Given the description of an element on the screen output the (x, y) to click on. 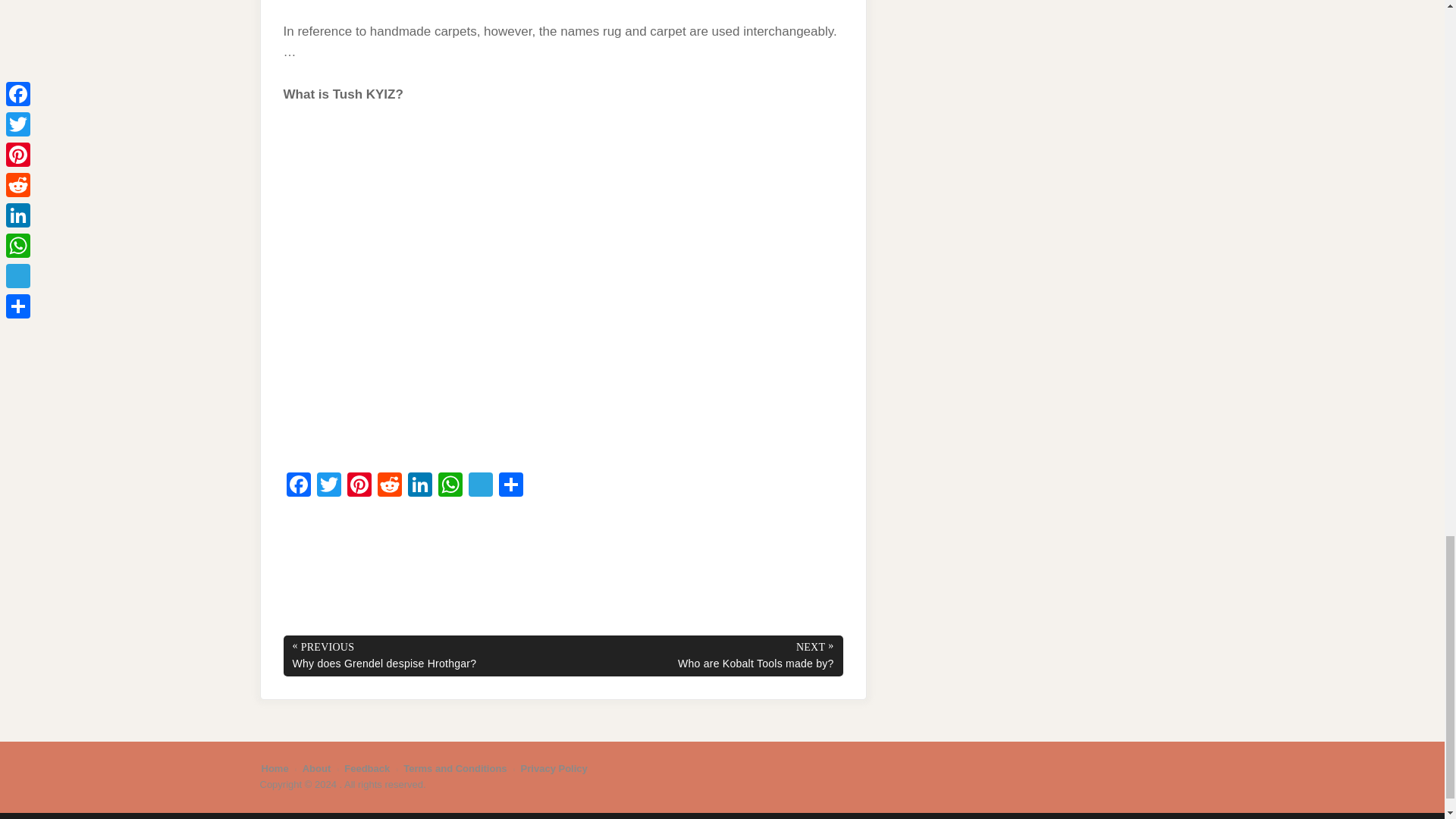
Feedback (366, 767)
Pinterest (358, 486)
WhatsApp (450, 486)
About (316, 767)
LinkedIn (419, 486)
Share (510, 486)
Telegram (480, 486)
Terms and Conditions (454, 767)
Pinterest (358, 486)
Twitter (328, 486)
